Given the description of an element on the screen output the (x, y) to click on. 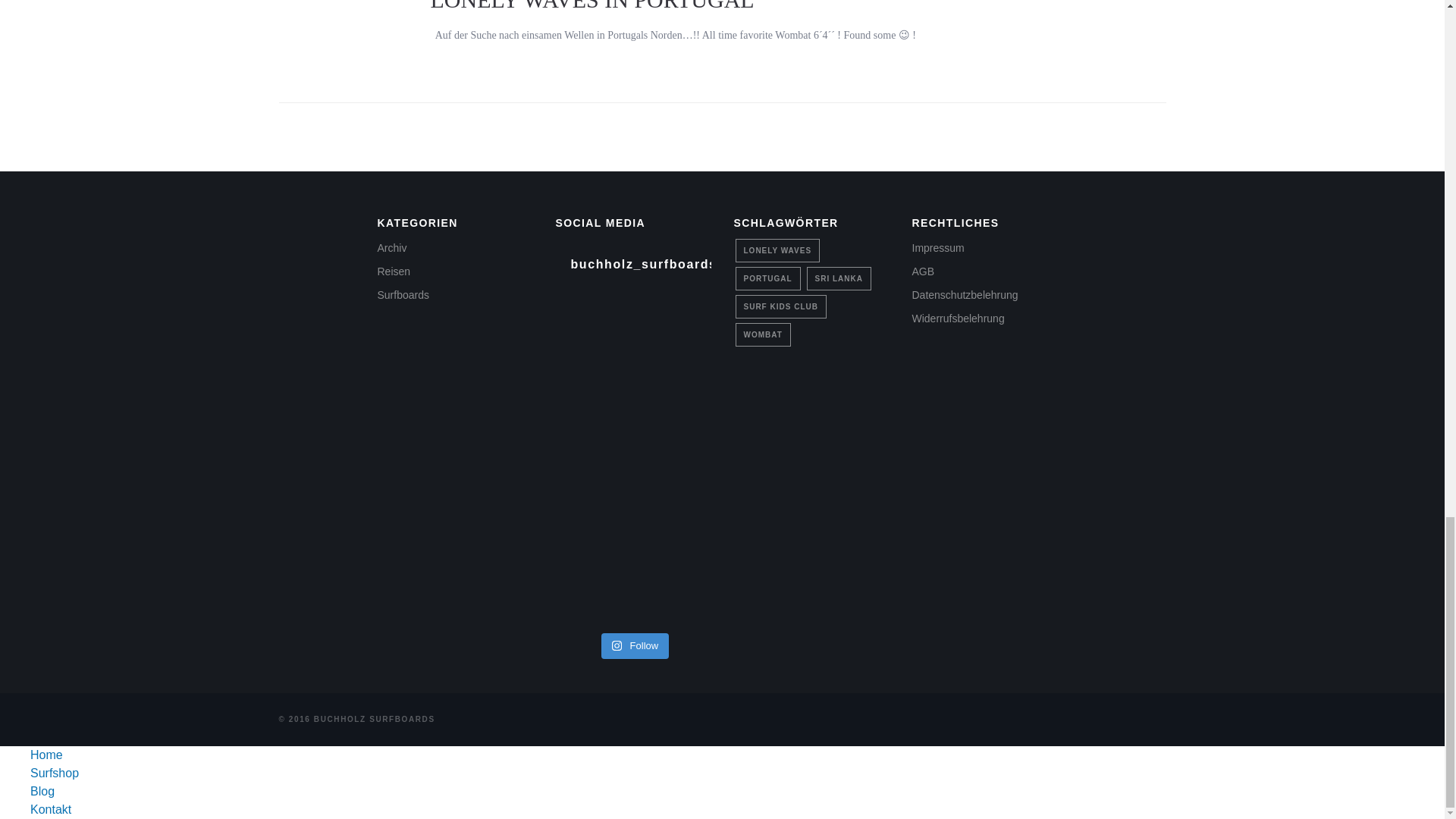
Reisen (393, 271)
Blog (42, 790)
SRI LANKA (838, 278)
PORTUGAL (767, 278)
Widerrufsbelehrung (957, 318)
Permalink to Lonely waves in Portugal (592, 5)
Home (46, 754)
Impressum (937, 247)
Archiv (392, 247)
SURF KIDS CLUB (781, 306)
